Given the description of an element on the screen output the (x, y) to click on. 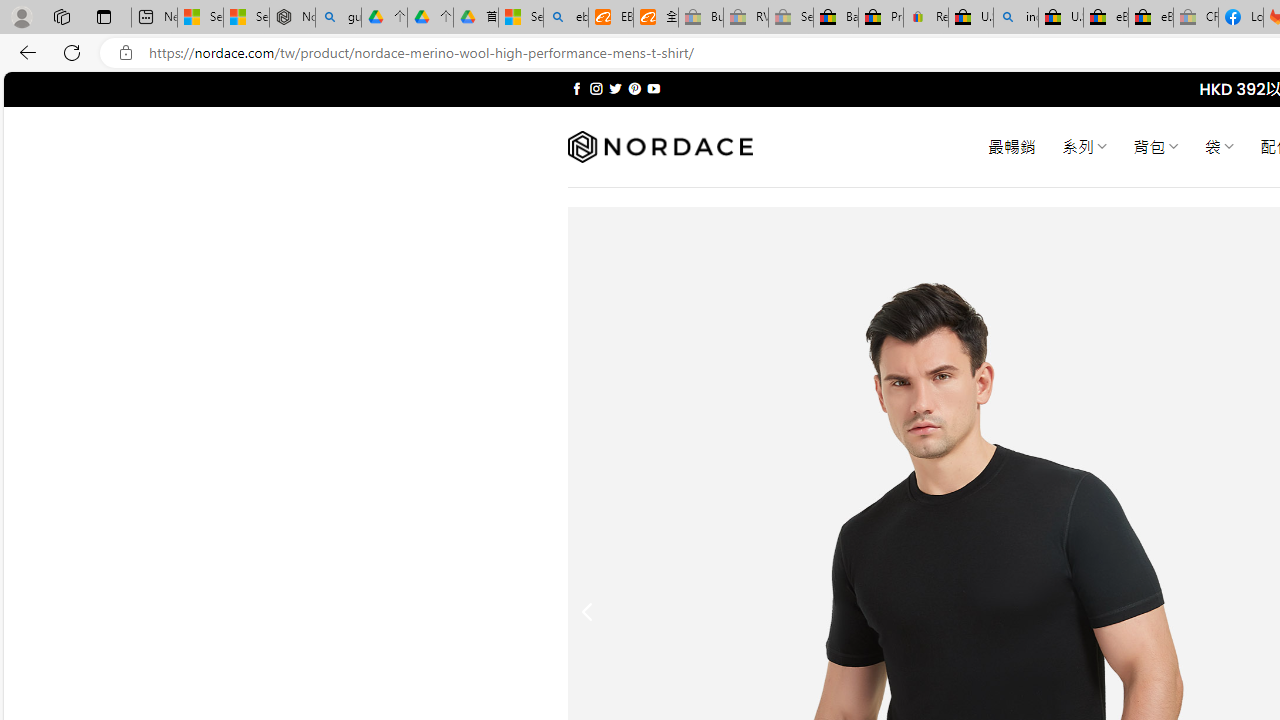
Tab actions menu (104, 16)
View site information (125, 53)
Personal Profile (21, 16)
Nordace (659, 147)
New tab (153, 17)
Refresh (72, 52)
